Given the description of an element on the screen output the (x, y) to click on. 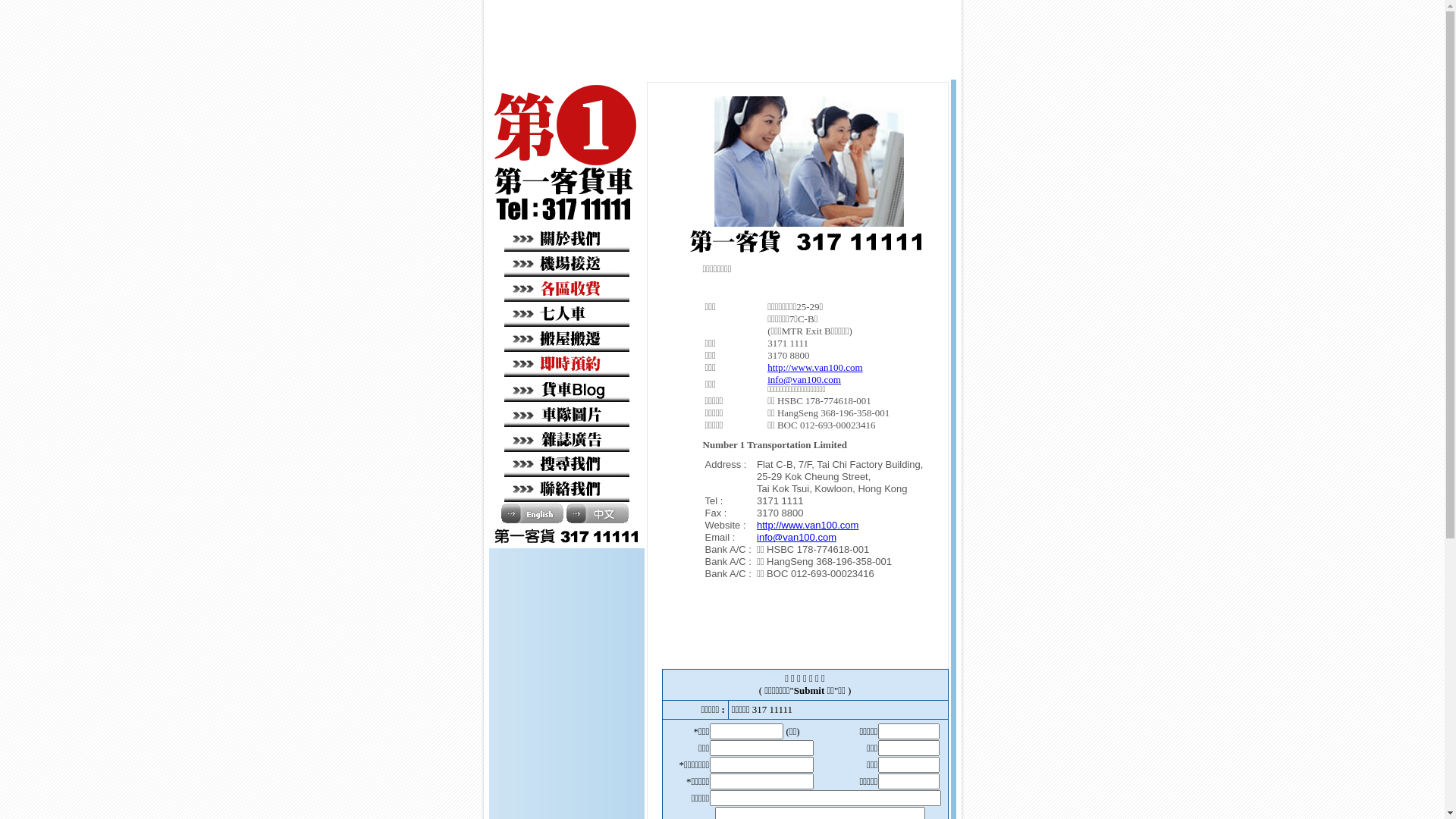
info@van100.com Element type: text (803, 379)
http://www.van100.com Element type: text (807, 524)
http://www.van100.com Element type: text (814, 367)
info@van100.com Element type: text (796, 536)
